Given the description of an element on the screen output the (x, y) to click on. 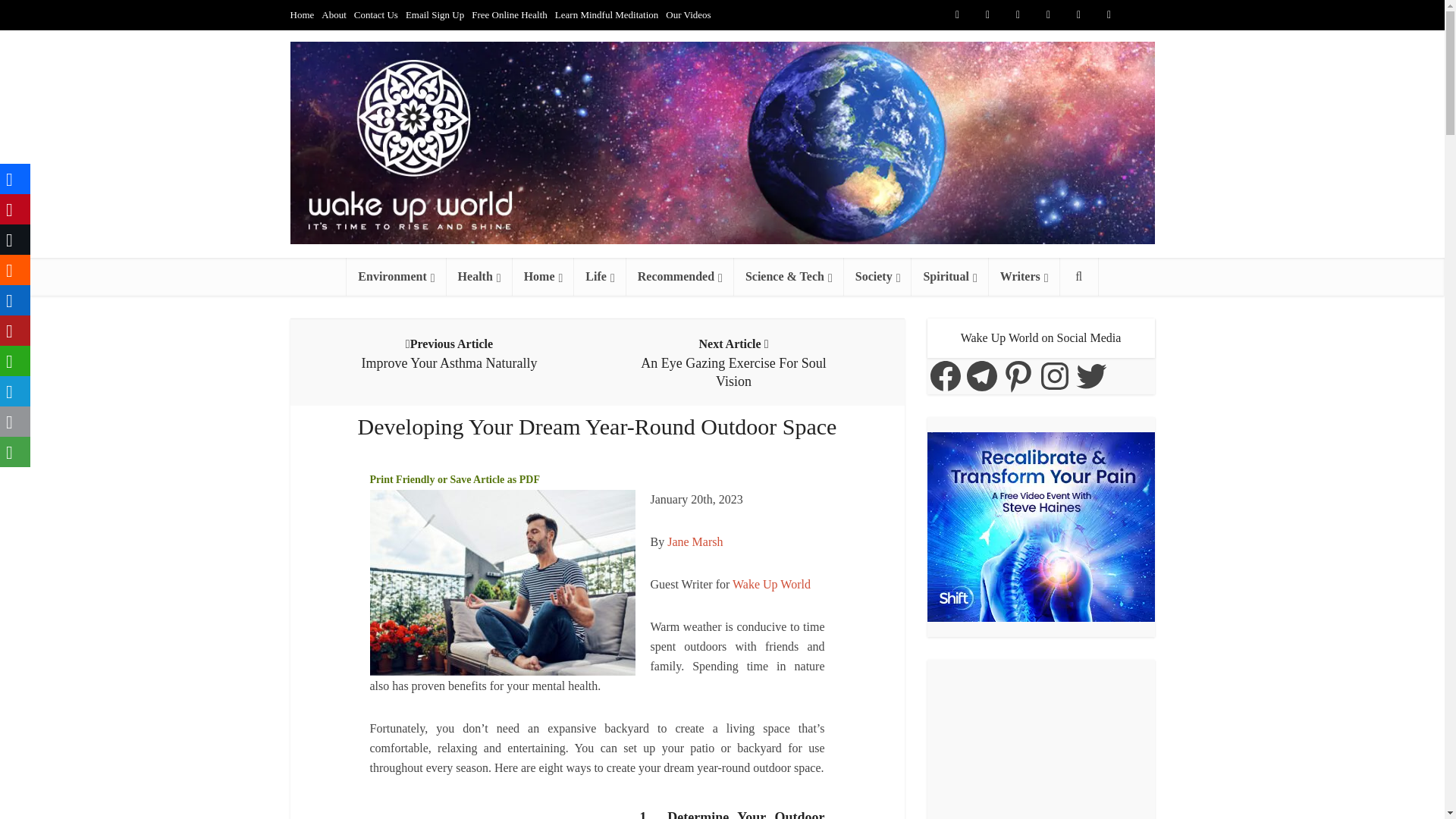
Our Videos (687, 14)
Learn Mindful Meditation (606, 14)
Environment (395, 276)
Telegram (1139, 15)
Health (479, 276)
Free Online Health (509, 14)
About (333, 14)
Articles recommended by WuW (679, 276)
Home (301, 14)
Email Sign Up (435, 14)
Contact Us (375, 14)
